Given the description of an element on the screen output the (x, y) to click on. 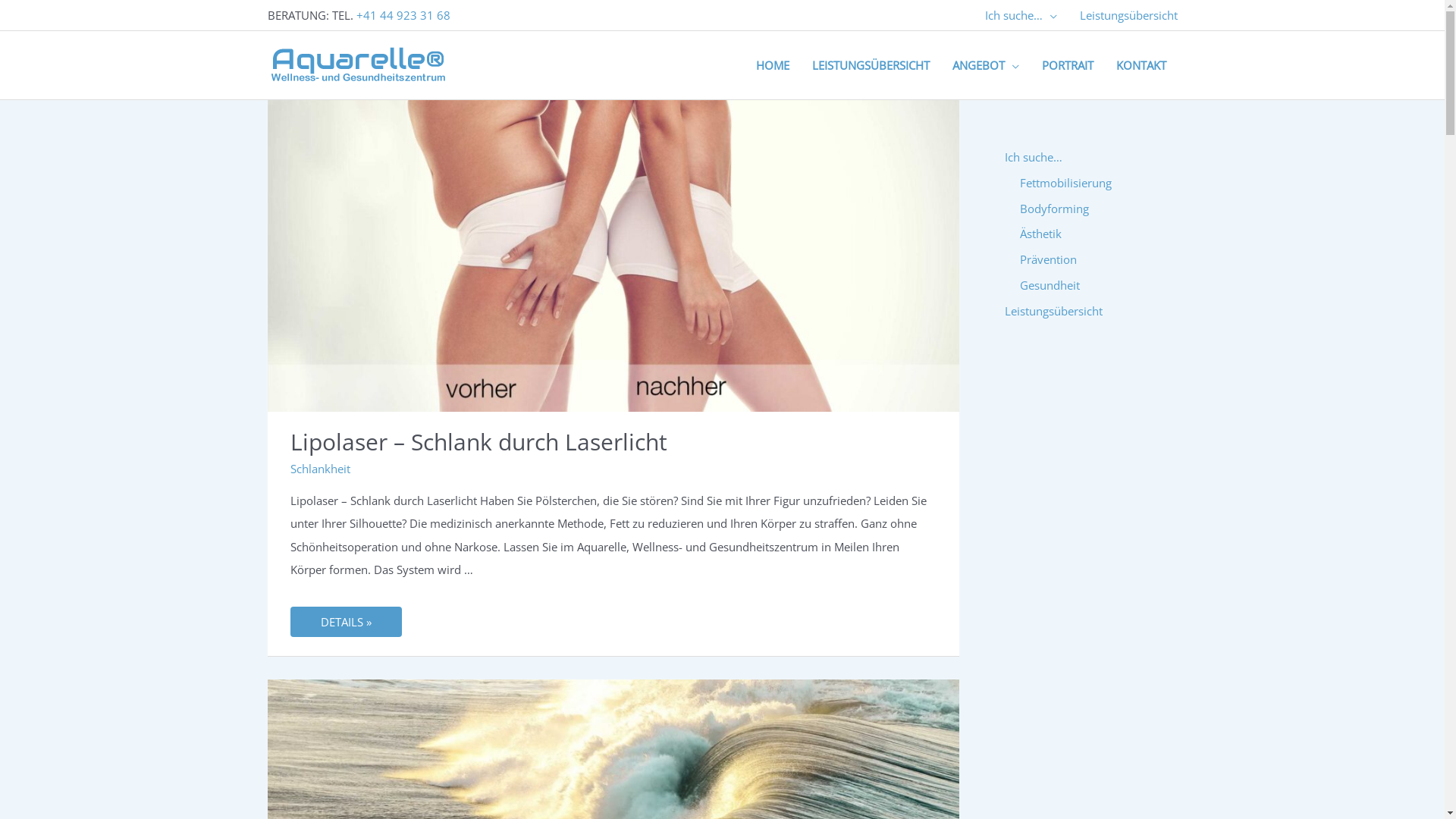
Gesundheit Element type: text (1049, 284)
Schlankheit Element type: text (319, 468)
HOME Element type: text (772, 64)
ANGEBOT Element type: text (984, 64)
PORTRAIT Element type: text (1066, 64)
+41 44 923 31 68 Element type: text (403, 14)
KONTAKT Element type: text (1140, 64)
Fettmobilisierung Element type: text (1064, 182)
Bodyforming Element type: text (1053, 207)
